Given the description of an element on the screen output the (x, y) to click on. 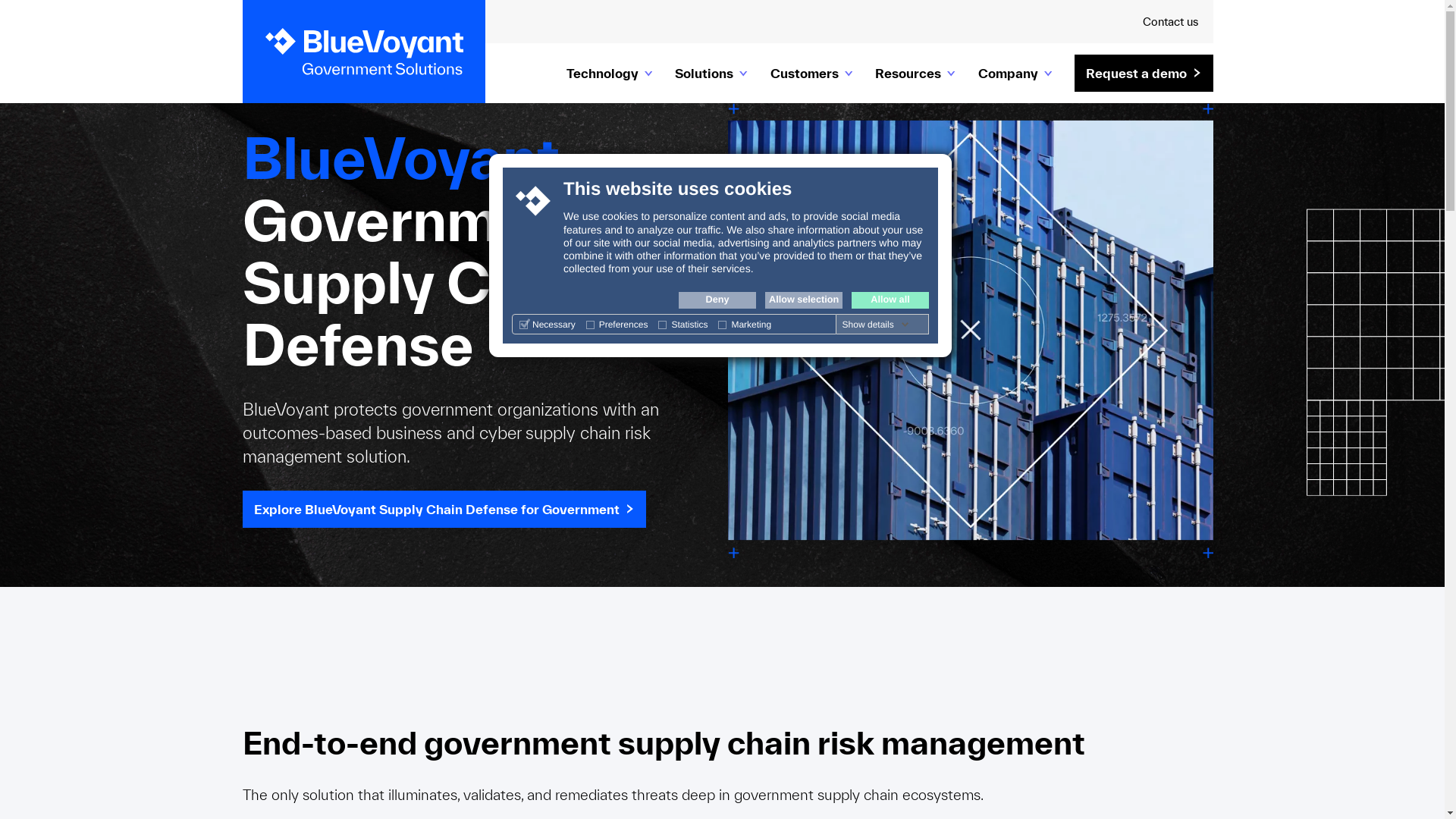
Deny Element type: text (717, 299)
Show details Element type: text (875, 324)
Allow all Element type: text (889, 299)
BlueVoyant Element type: text (363, 51)
Request a demo Element type: text (1143, 72)
Allow selection Element type: text (803, 299)
Resources
Open Resources Element type: text (914, 72)
Explore BlueVoyant Supply Chain Defense for Government Element type: text (444, 508)
Technology
Open Technology Element type: text (609, 72)
Solutions
Open Solutions Element type: text (710, 72)
Contact us Element type: text (1170, 21)
Company
Open Company Element type: text (1014, 72)
Customers
Open Customers Element type: text (811, 72)
